Given the description of an element on the screen output the (x, y) to click on. 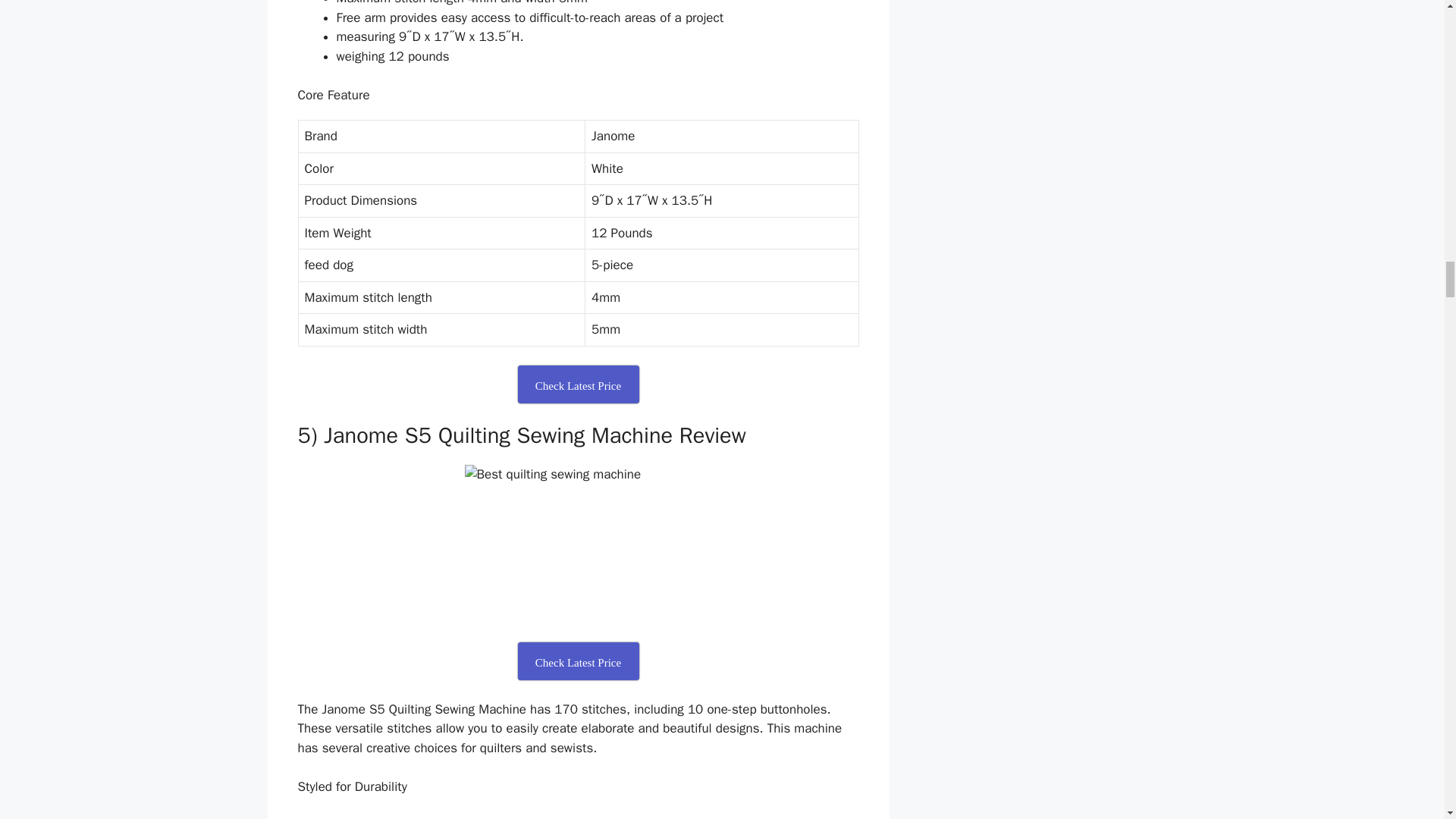
Check Latest Price (577, 661)
Check Latest Price (577, 384)
